Given the description of an element on the screen output the (x, y) to click on. 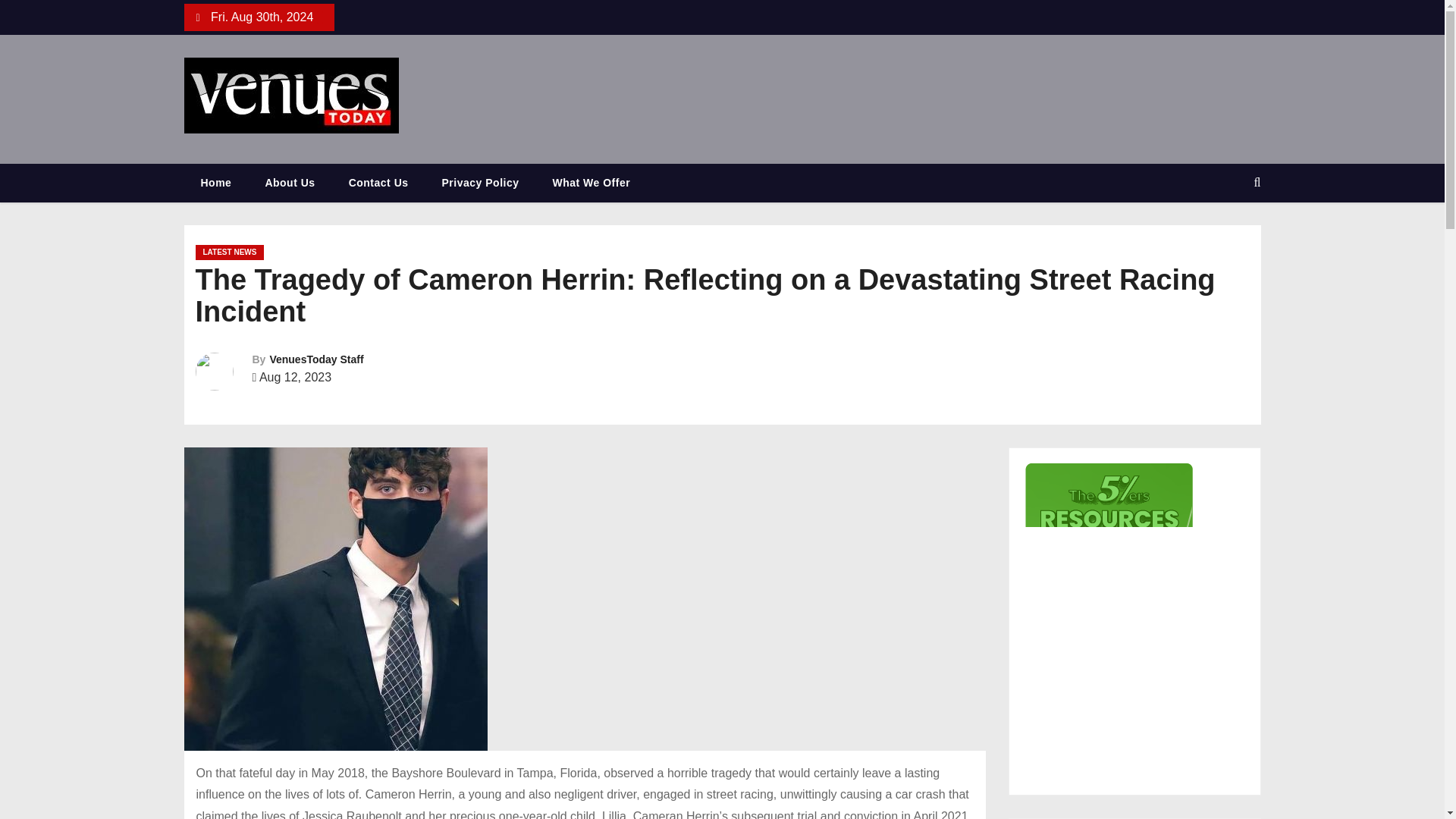
What We Offer (590, 182)
VenuesToday Staff (315, 358)
Home (215, 182)
Home (215, 182)
Privacy Policy (480, 182)
LATEST NEWS (229, 252)
About Us (289, 182)
Contact Us (378, 182)
